Given the description of an element on the screen output the (x, y) to click on. 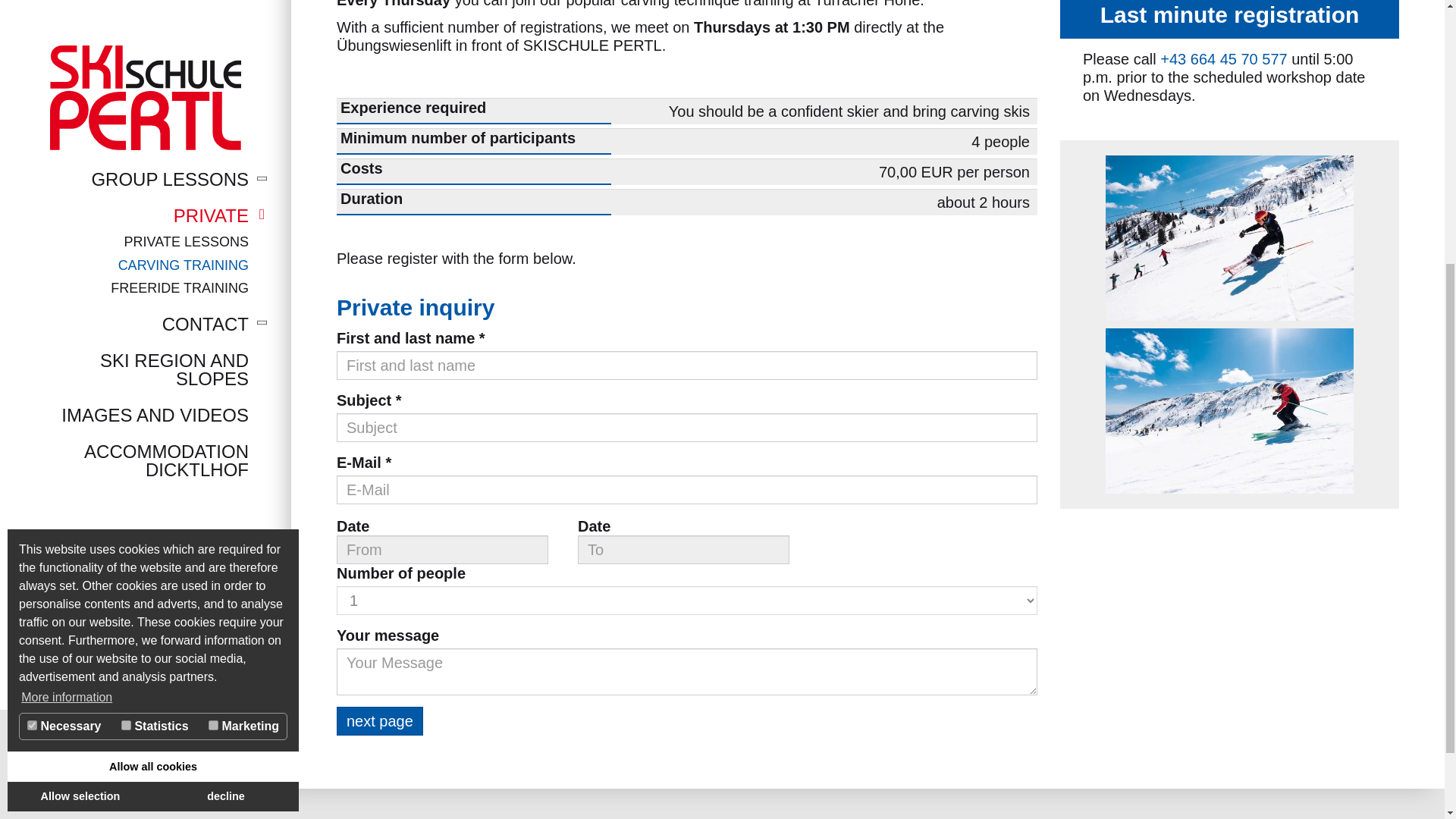
ACCOMMODATION DICKTLHOF (135, 38)
Accommodation Dicktlhof (135, 38)
next page (379, 720)
